Given the description of an element on the screen output the (x, y) to click on. 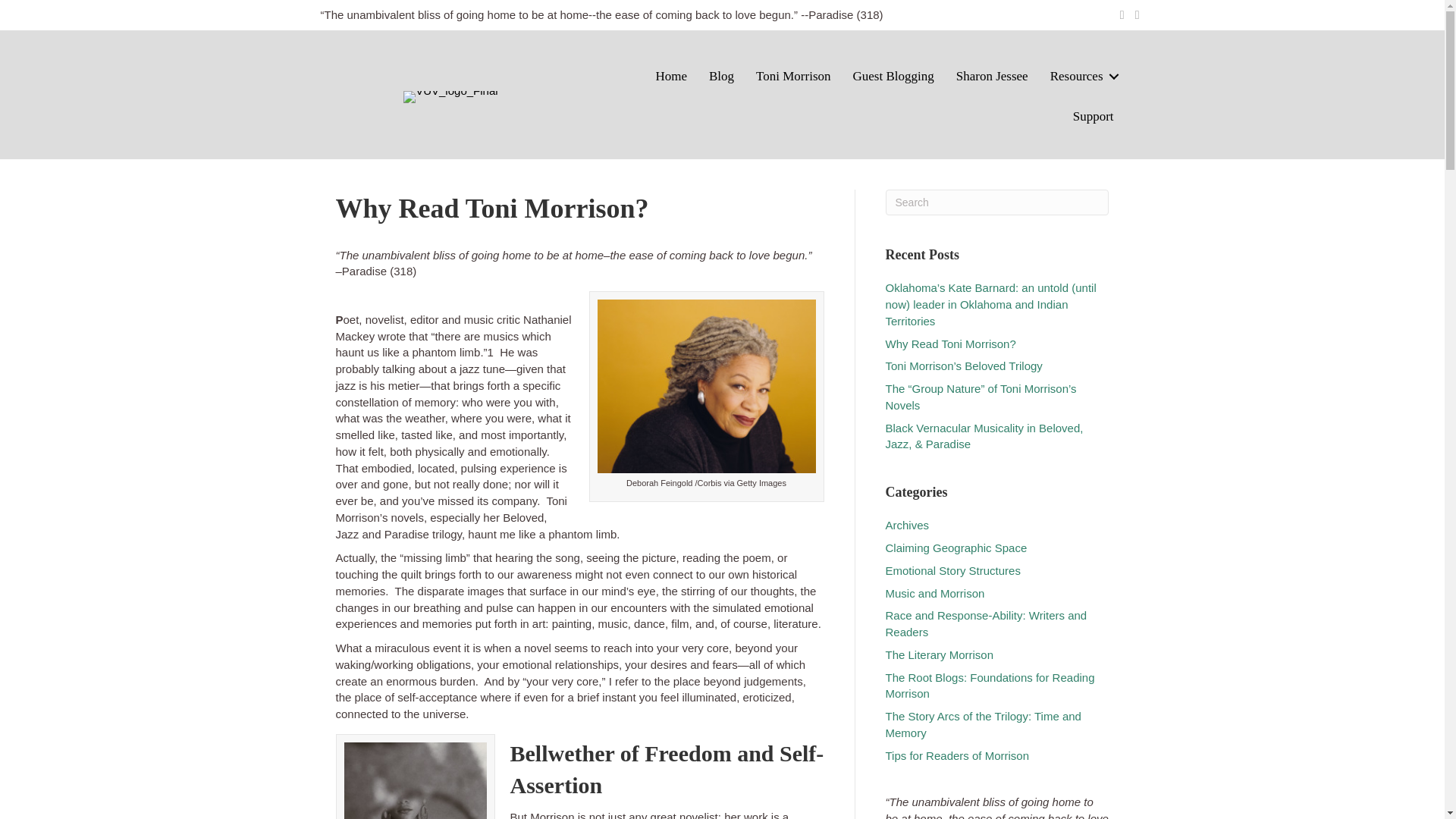
Toni Morrison (793, 76)
The Literary Morrison (939, 654)
Home (671, 76)
Blog (721, 76)
Music and Morrison (935, 593)
Why Read Toni Morrison? (950, 343)
Tips for Readers of Morrison (957, 755)
Support (1093, 117)
Race and Response-Ability: Writers and Readers (986, 623)
Emotional Story Structures (952, 570)
